Given the description of an element on the screen output the (x, y) to click on. 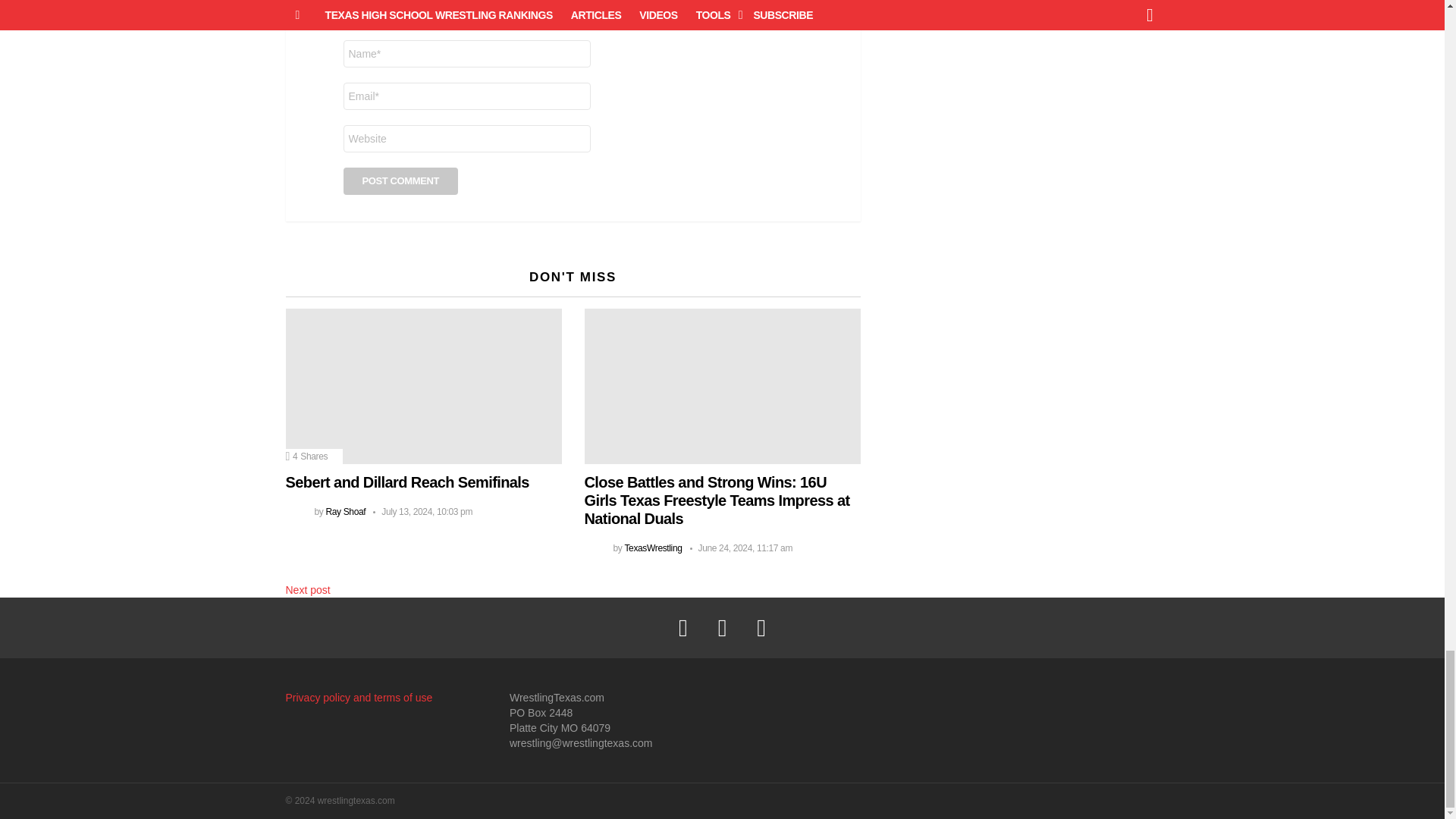
Post Comment (400, 180)
